Given the description of an element on the screen output the (x, y) to click on. 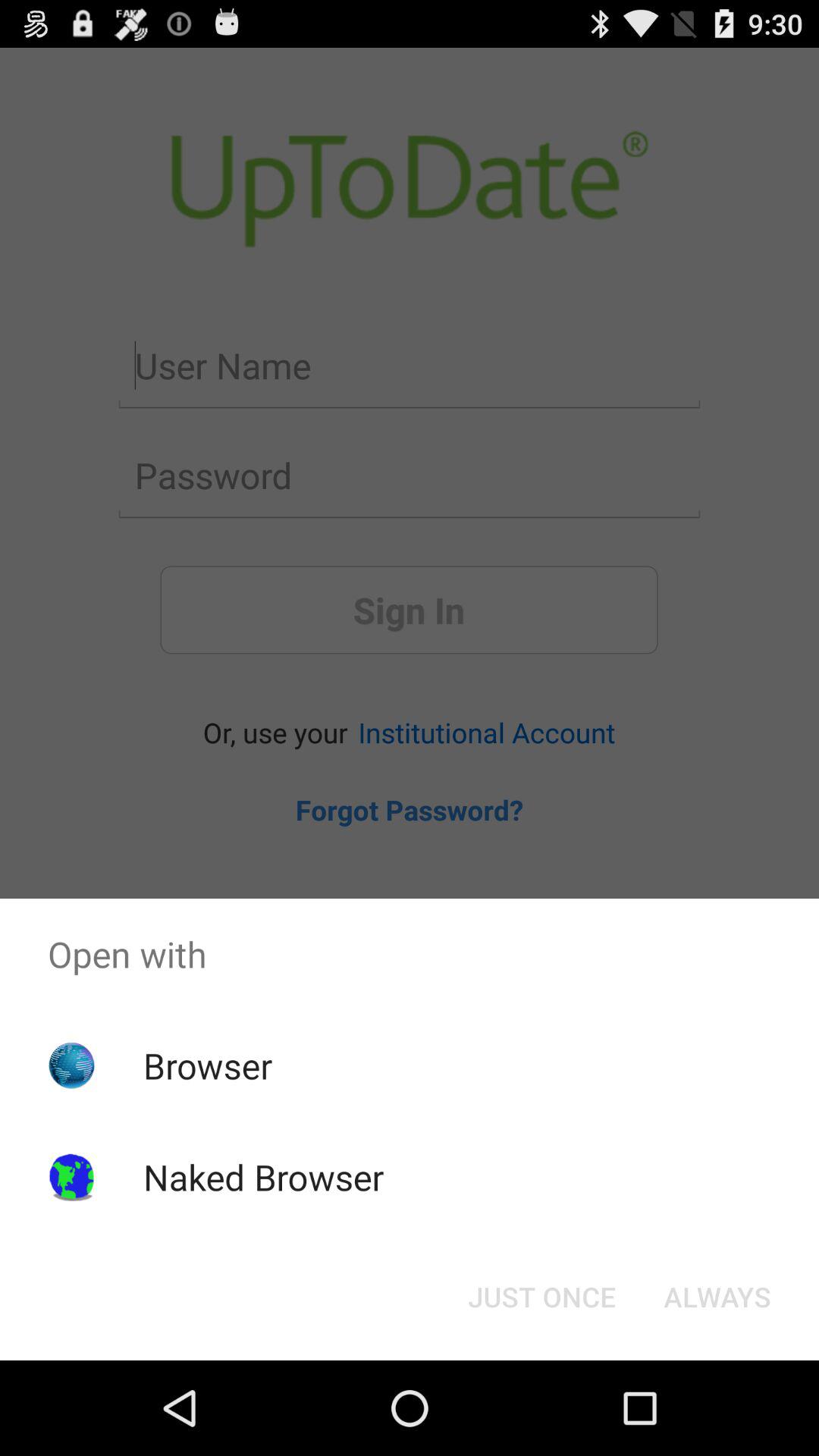
launch the button to the right of just once button (717, 1296)
